Given the description of an element on the screen output the (x, y) to click on. 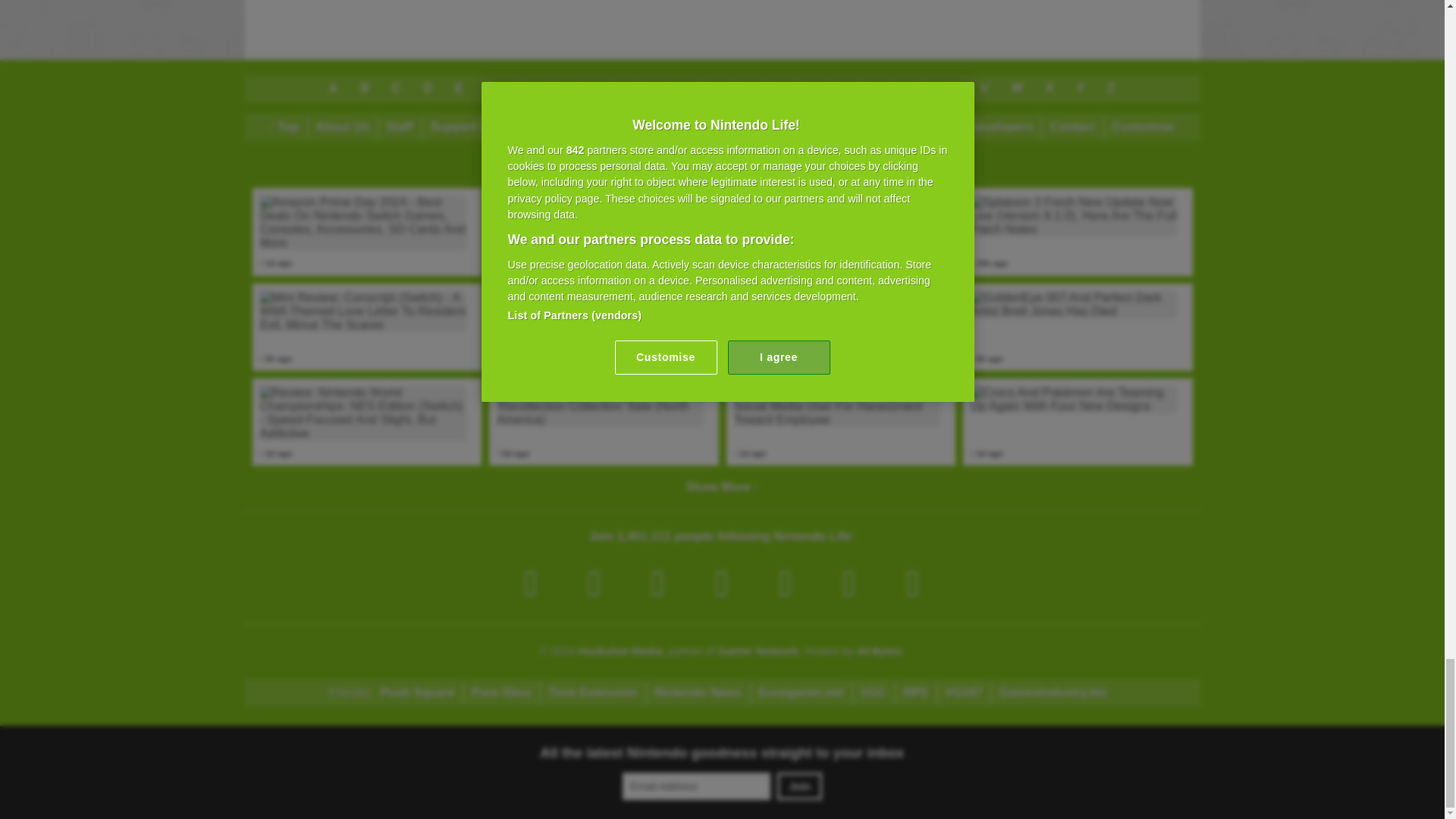
Join (799, 786)
